Given the description of an element on the screen output the (x, y) to click on. 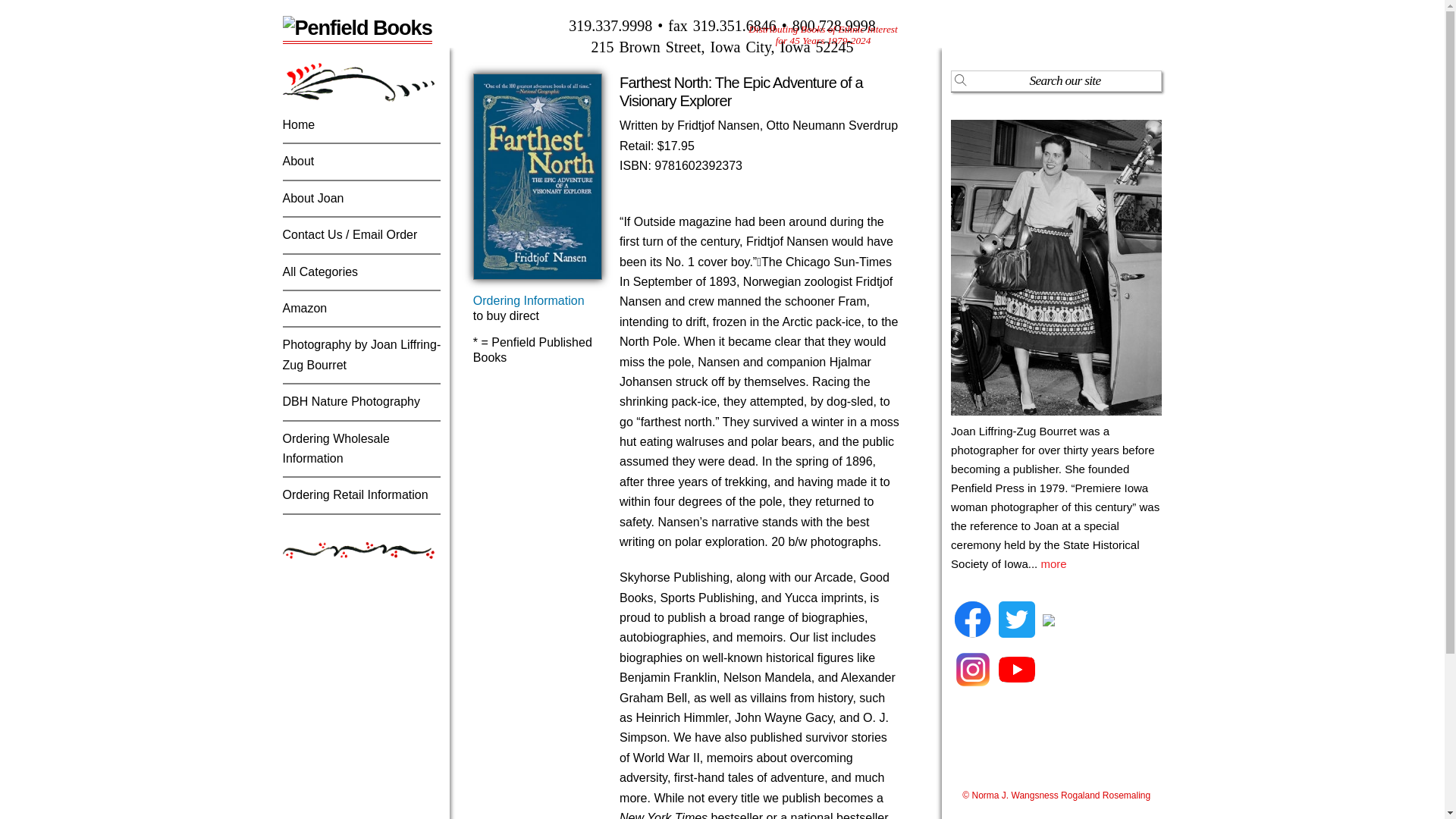
Penfield Books (356, 27)
DBH Nature Photography (350, 400)
Ordering Wholesale Information (335, 448)
Search (1055, 80)
Ordering Retail Information (355, 494)
Amazon (304, 308)
Ordering Information (529, 300)
All Categories (320, 271)
Home (298, 124)
About Joan (312, 197)
more (1053, 563)
About (298, 160)
Photography by Joan Liffring-Zug Bourret (361, 354)
